Given the description of an element on the screen output the (x, y) to click on. 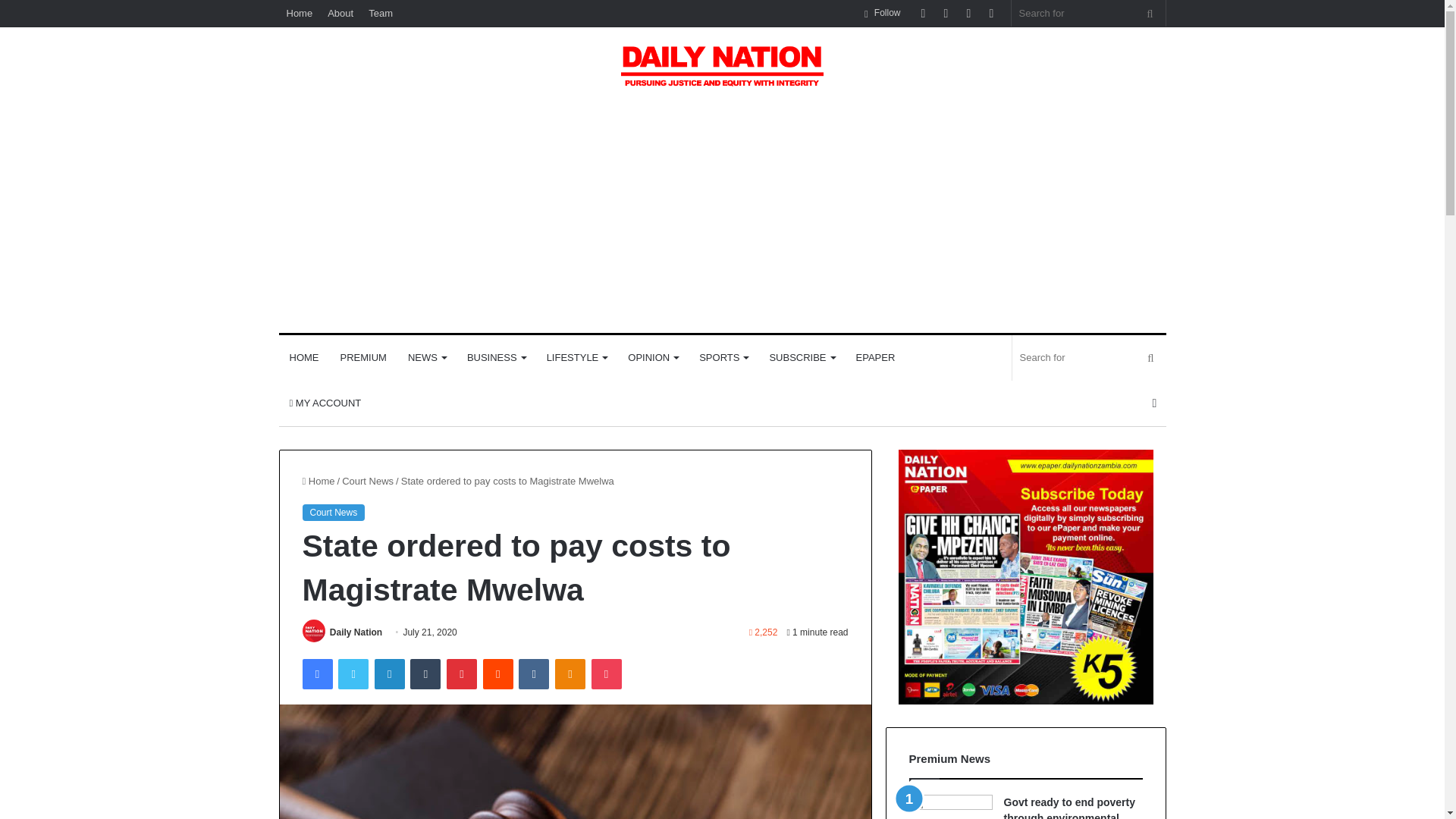
Team (380, 13)
Daily Nation (355, 632)
Reddit (498, 674)
NEWS (427, 357)
Tumblr (425, 674)
LIFESTYLE (576, 357)
About (340, 13)
LinkedIn (389, 674)
BUSINESS (496, 357)
Facebook (316, 674)
Twitter (352, 674)
Search for (1149, 13)
HOME (304, 357)
Odnoklassniki (569, 674)
Follow (882, 13)
